Given the description of an element on the screen output the (x, y) to click on. 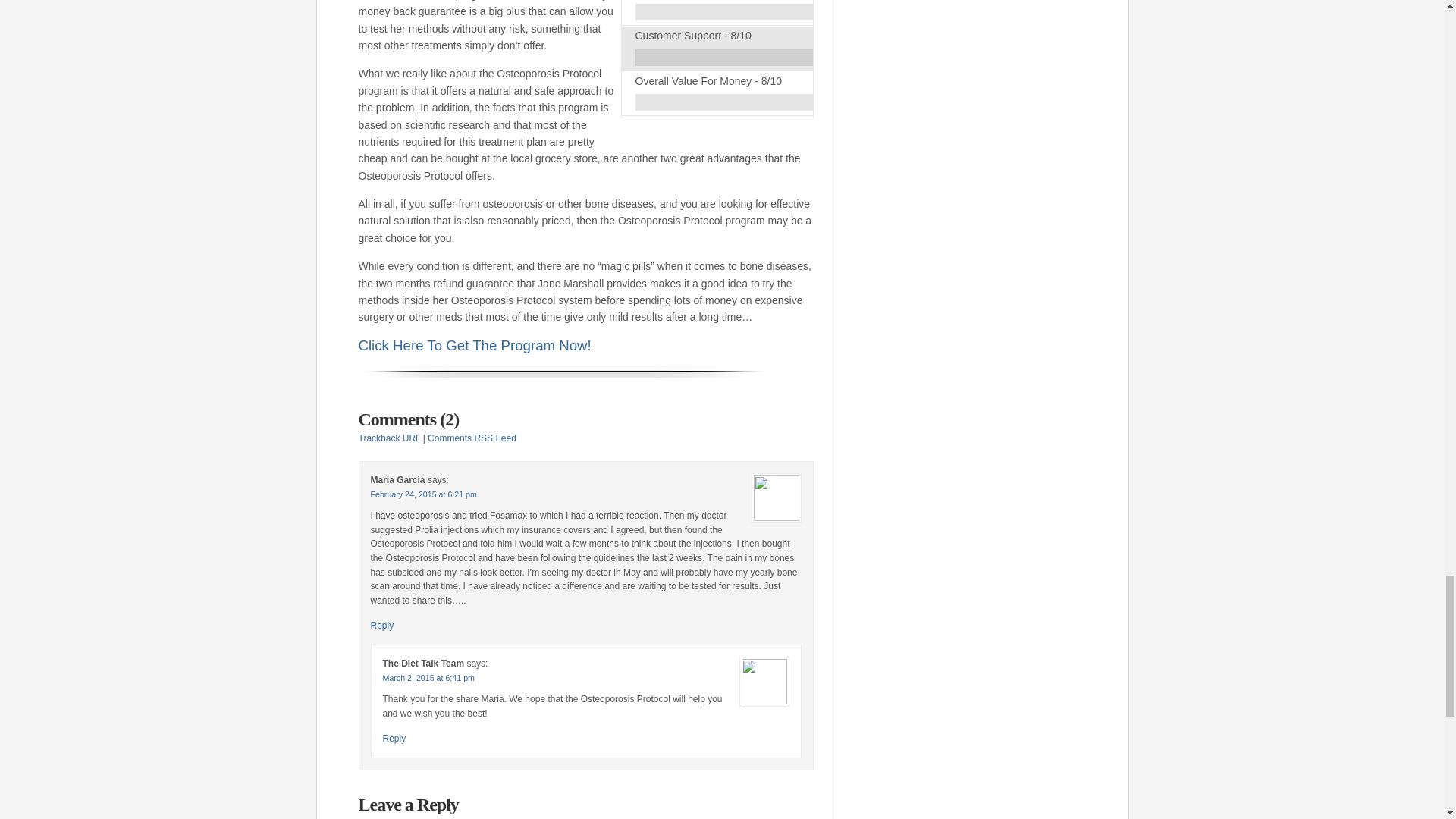
Comments RSS Feed (472, 438)
Comments RSS Feed for This Entry (472, 438)
Trackback URL (389, 438)
March 2, 2015 at 6:41 pm (427, 677)
Trackback URL (389, 438)
Reply (381, 624)
Reply (393, 738)
February 24, 2015 at 6:21 pm (422, 493)
Click Here To Get The Program Now! (474, 346)
